Given the description of an element on the screen output the (x, y) to click on. 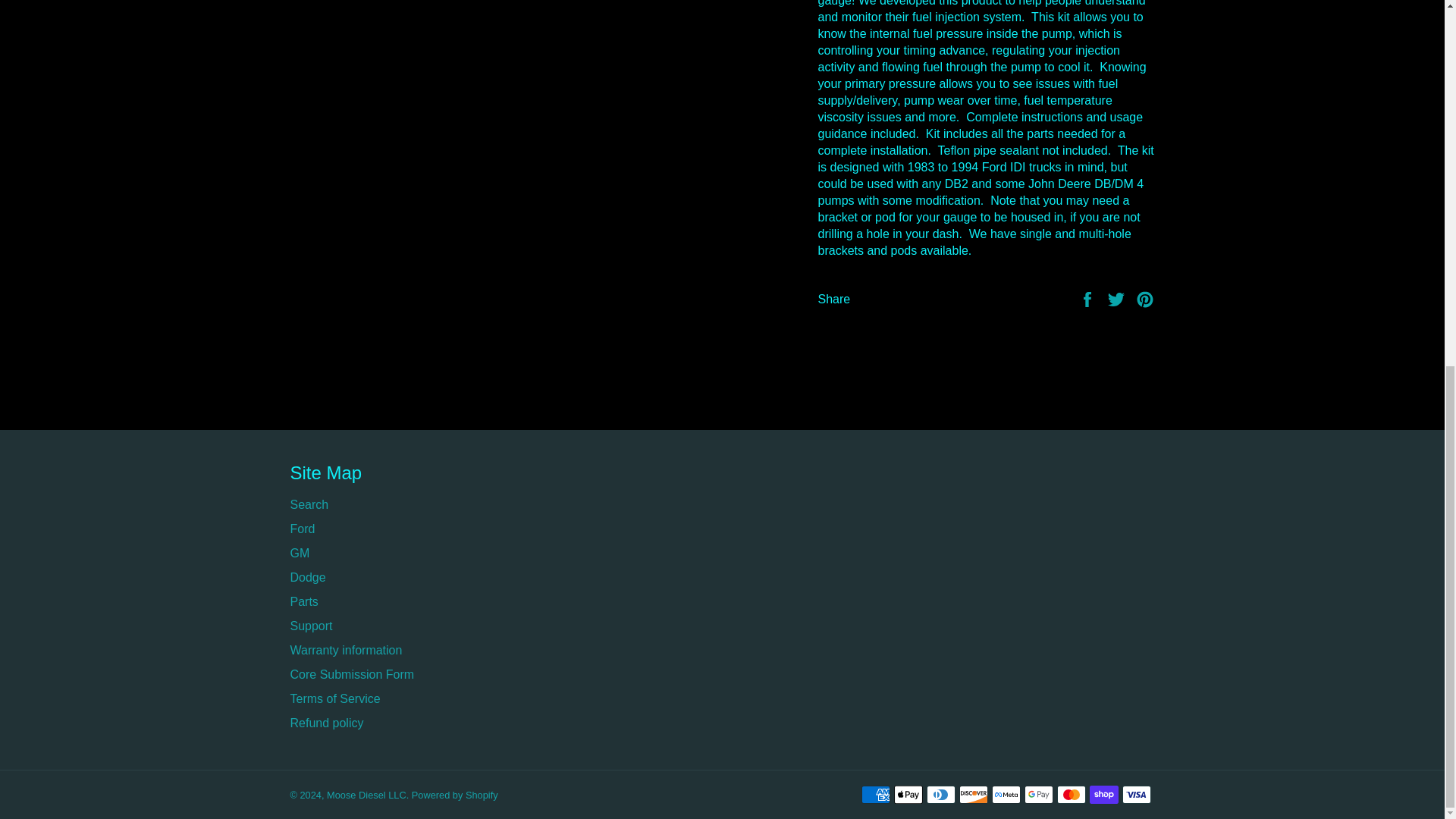
Pin on Pinterest (1144, 297)
Share on Facebook (1088, 297)
Tweet on Twitter (1117, 297)
